Given the description of an element on the screen output the (x, y) to click on. 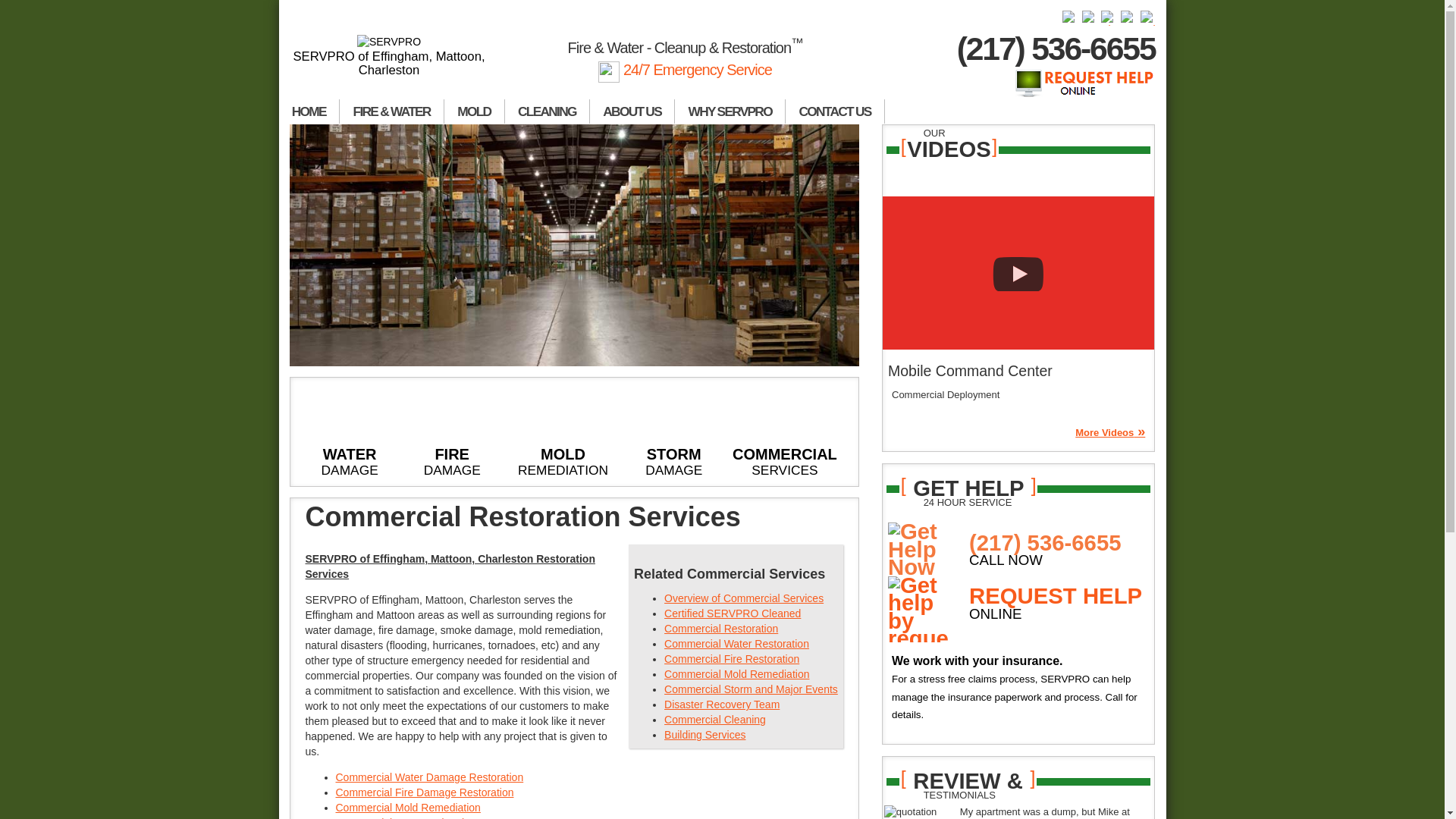
ABOUT US (632, 111)
SERVPRO of Effingham, Mattoon, Charleston (389, 55)
CLEANING (547, 111)
MOLD (474, 111)
HOME (309, 111)
